Given the description of an element on the screen output the (x, y) to click on. 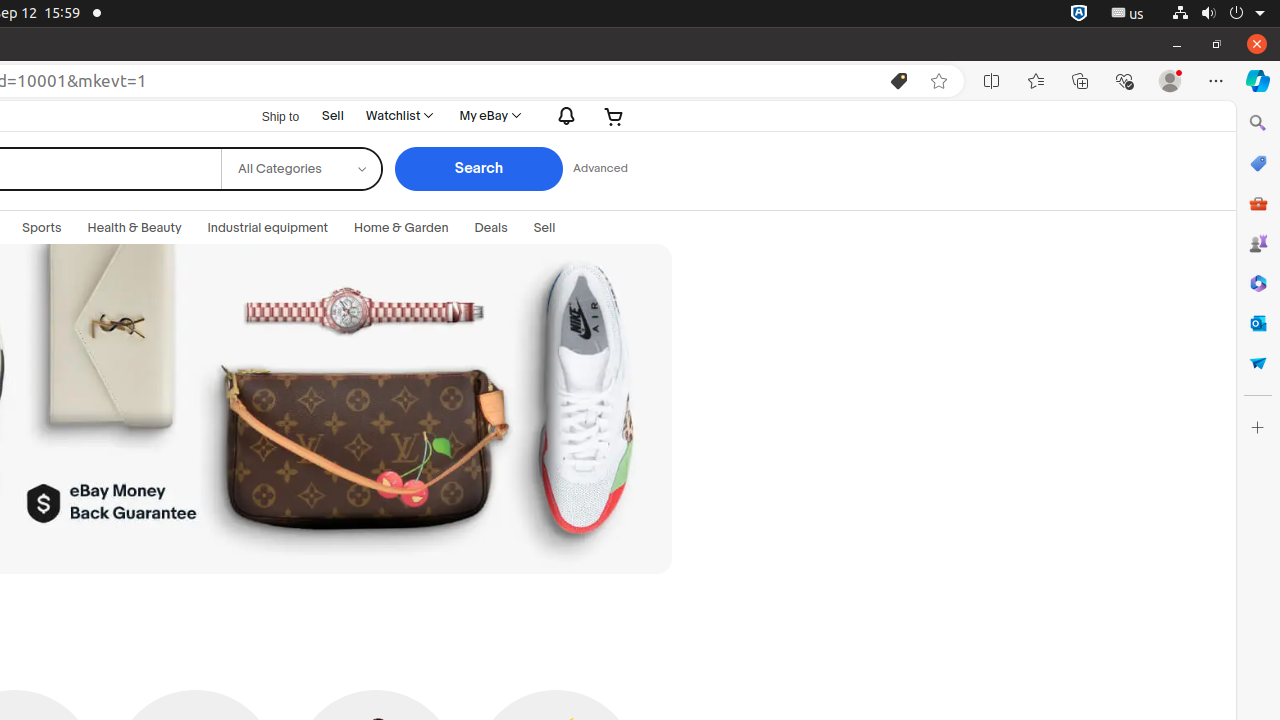
Profile 1 Profile, Please sign in Element type: push-button (1170, 81)
System Element type: menu (1218, 13)
Add this page to favorites (Ctrl+D) Element type: push-button (939, 81)
My eBay Element type: link (489, 115)
Favorites Element type: push-button (1036, 81)
